Given the description of an element on the screen output the (x, y) to click on. 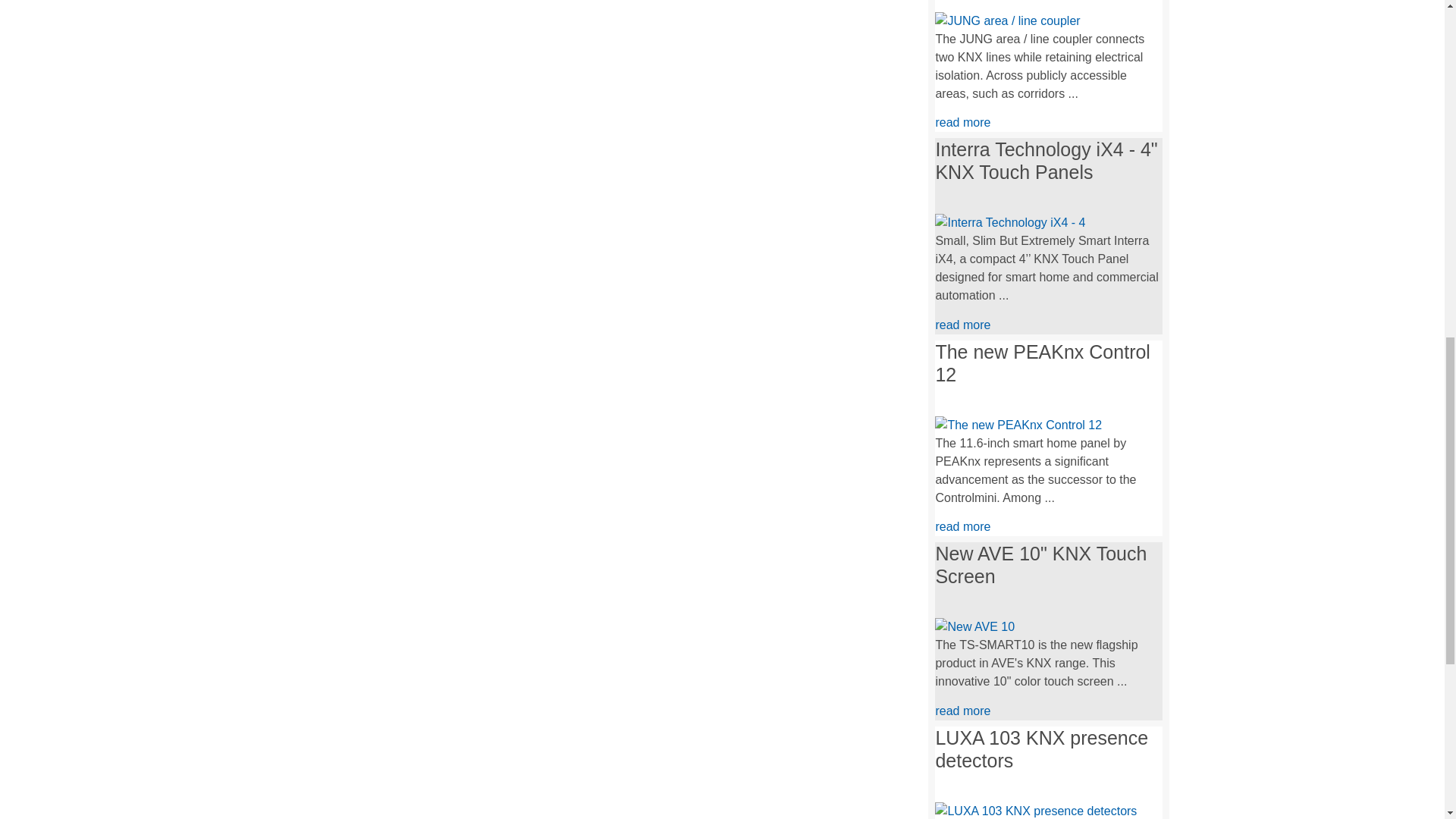
The new PEAKnx Control 12 (1018, 424)
Interra Technology iX4 - 4 (1009, 222)
Interra Technology iX4 - 4 (1009, 222)
New AVE 10 (974, 627)
The new PEAKnx Control 12 (1018, 425)
New AVE 10 (974, 626)
LUXA 103 KNX presence detectors (1035, 810)
LUXA 103 KNX presence detectors (1035, 810)
